Given the description of an element on the screen output the (x, y) to click on. 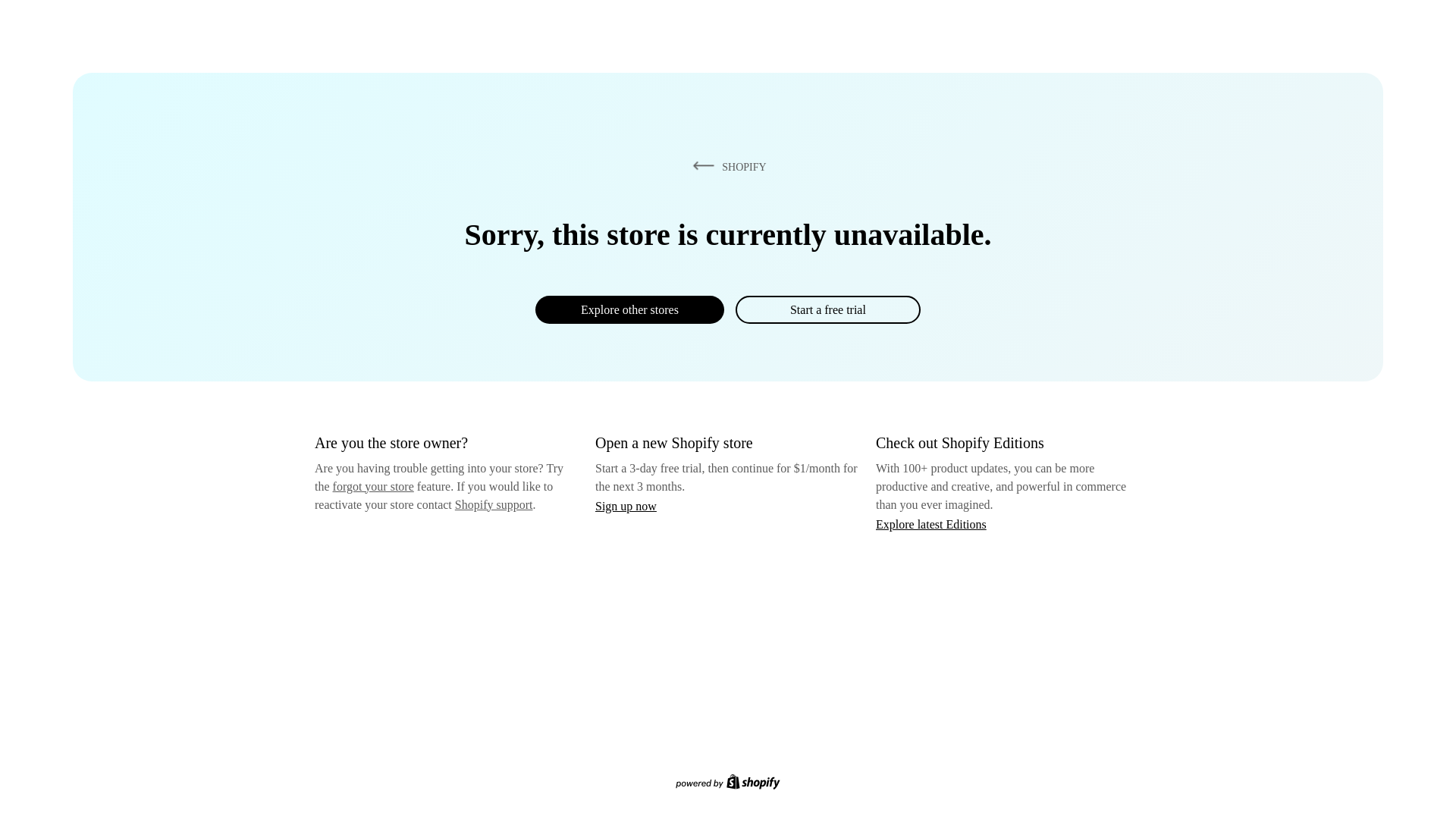
Start a free trial (827, 309)
SHOPIFY (726, 166)
Explore latest Editions (931, 523)
Shopify support (493, 504)
Sign up now (625, 505)
Explore other stores (629, 309)
forgot your store (373, 486)
